Given the description of an element on the screen output the (x, y) to click on. 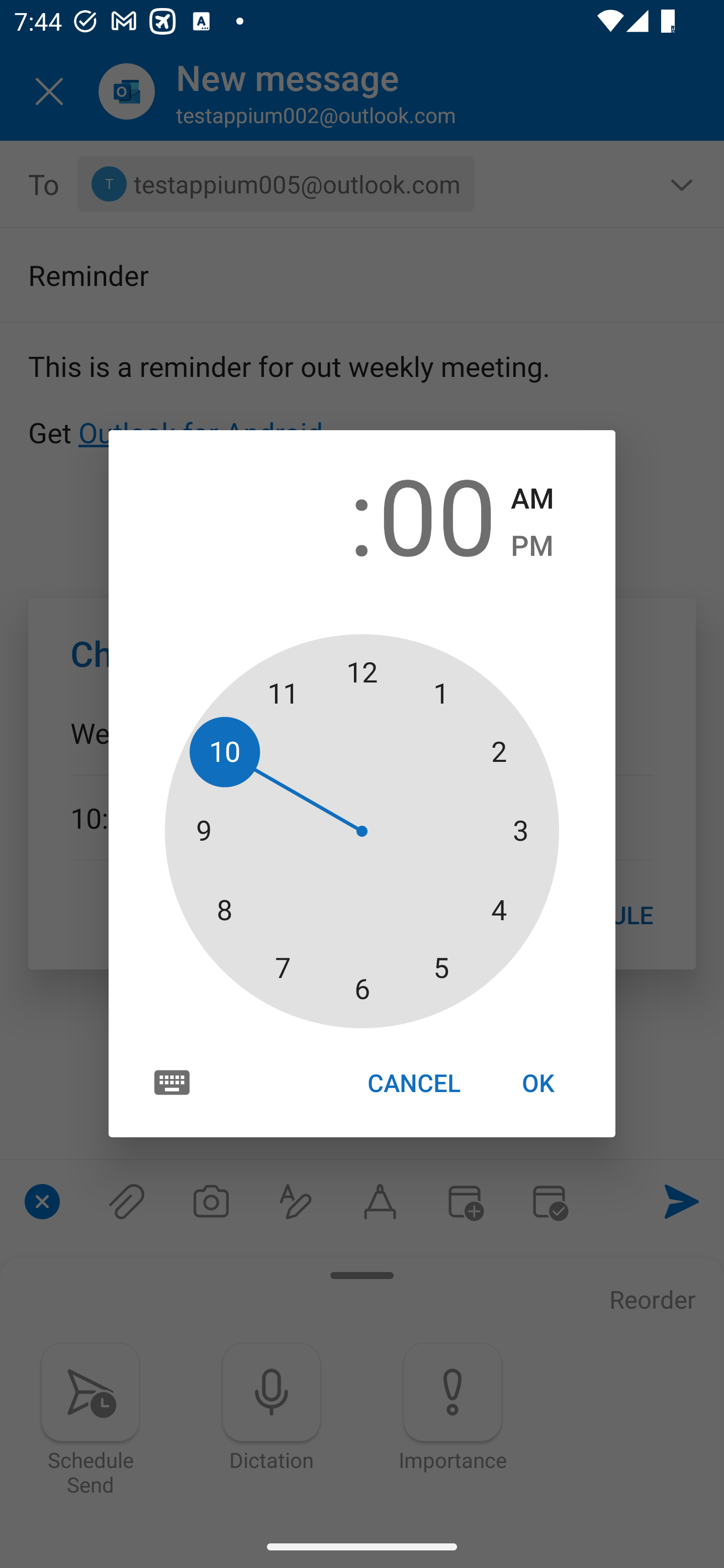
10 (285, 513)
00 (436, 513)
AM (532, 498)
PM (532, 546)
CANCEL (413, 1082)
OK (537, 1082)
Switch to text input mode for the time input. (171, 1081)
